Given the description of an element on the screen output the (x, y) to click on. 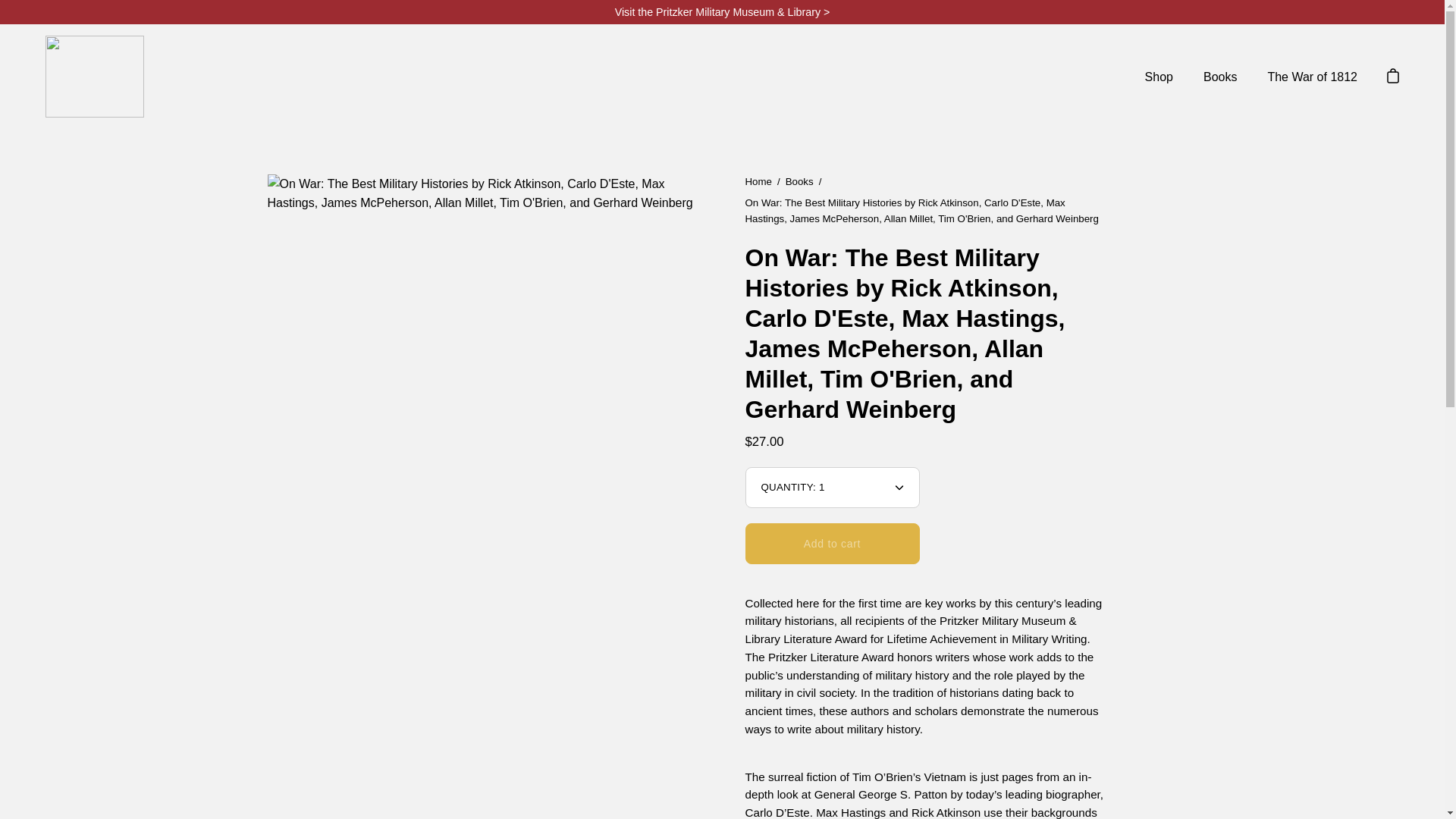
Go back to Home page (757, 182)
